Given the description of an element on the screen output the (x, y) to click on. 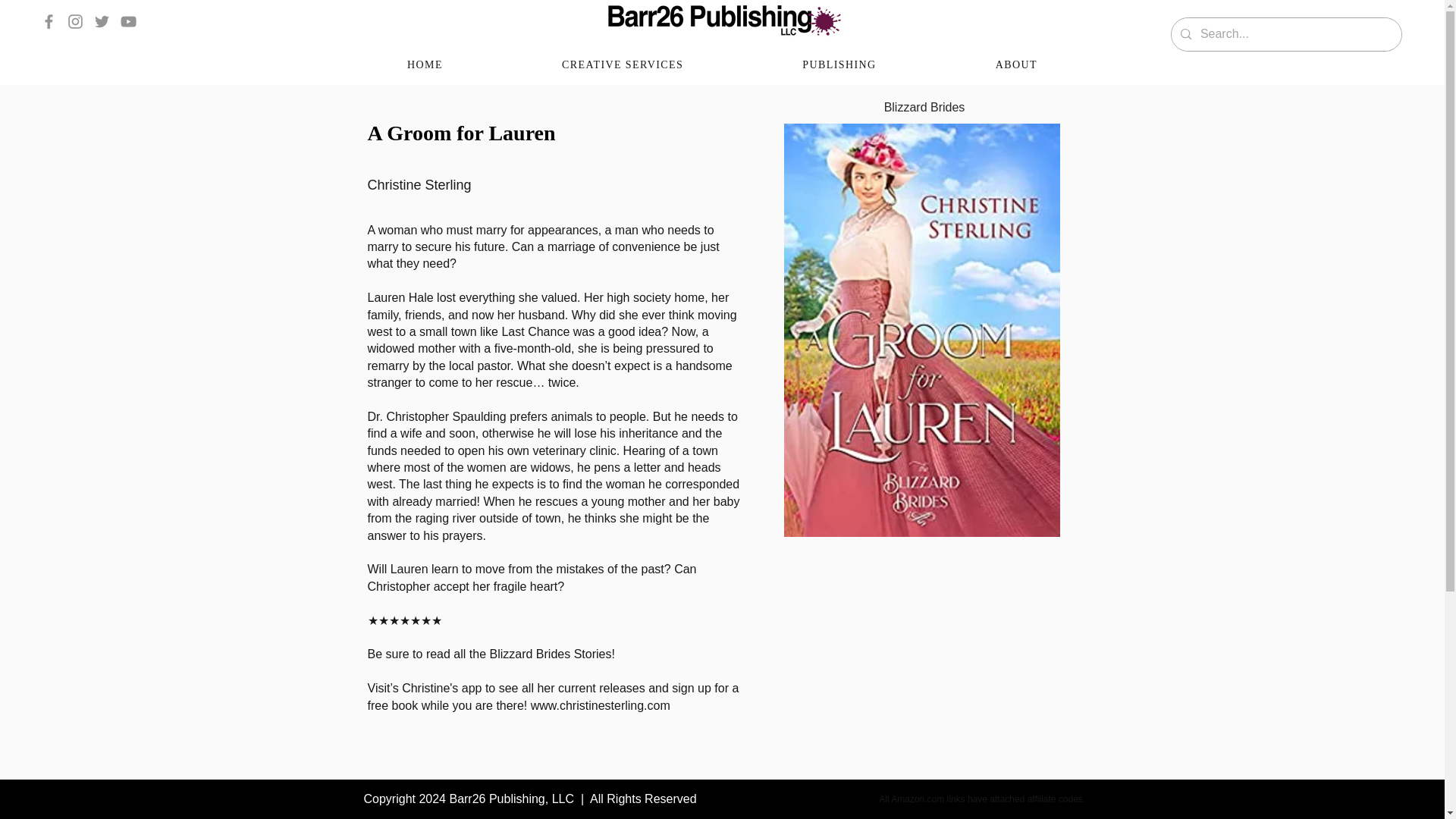
www.christinesterling.com (600, 705)
PUBLISHING (839, 65)
Christine Sterling (545, 185)
HOME (424, 65)
Blizzard Brides (924, 107)
CREATIVE SERVICES (622, 65)
ABOUT (1016, 65)
